Given the description of an element on the screen output the (x, y) to click on. 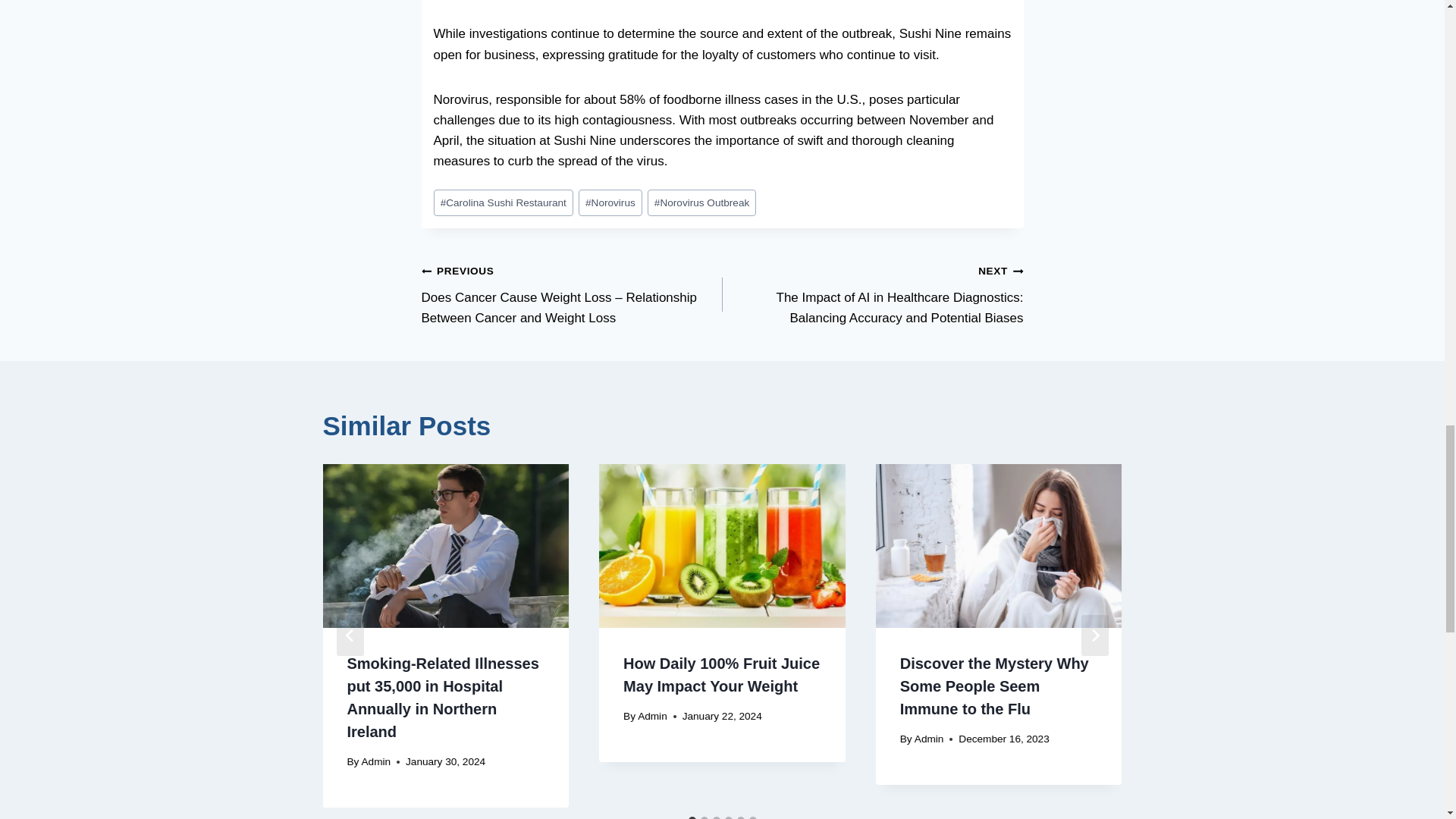
Carolina Sushi Restaurant (503, 202)
Norovirus Outbreak (702, 202)
Norovirus (610, 202)
